Given the description of an element on the screen output the (x, y) to click on. 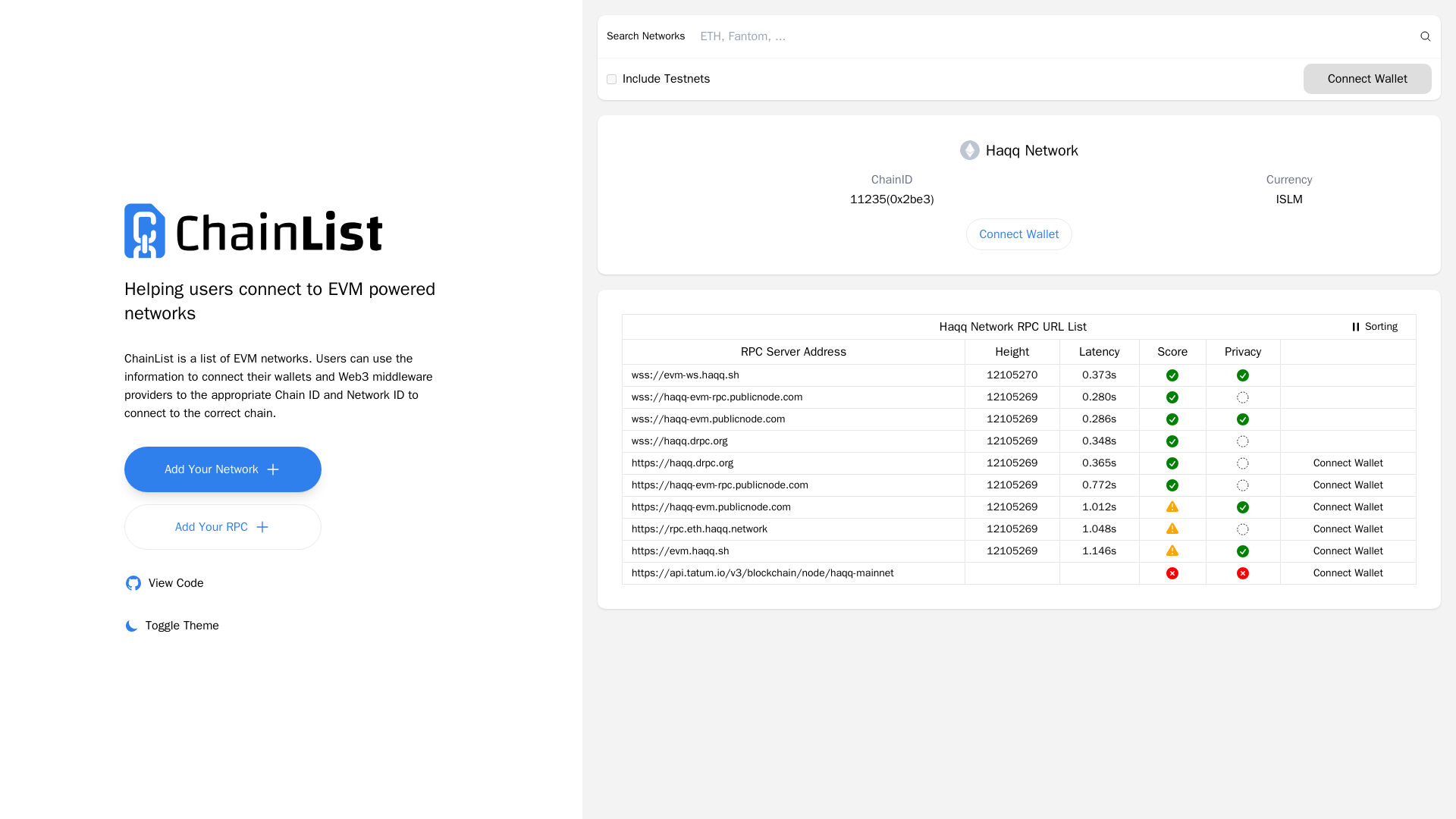
Connect Wallet (1348, 484)
Connect Wallet (1348, 551)
Add Your Network (1373, 326)
Connect Wallet (222, 468)
Connect Wallet (1367, 78)
Connect Wallet (1018, 234)
Connect Wallet (1348, 529)
Add Your RPC (1348, 573)
Toggle Theme (222, 525)
View Code (171, 624)
on (163, 582)
Connect Wallet (611, 79)
Connect Wallet (1348, 506)
